Given the description of an element on the screen output the (x, y) to click on. 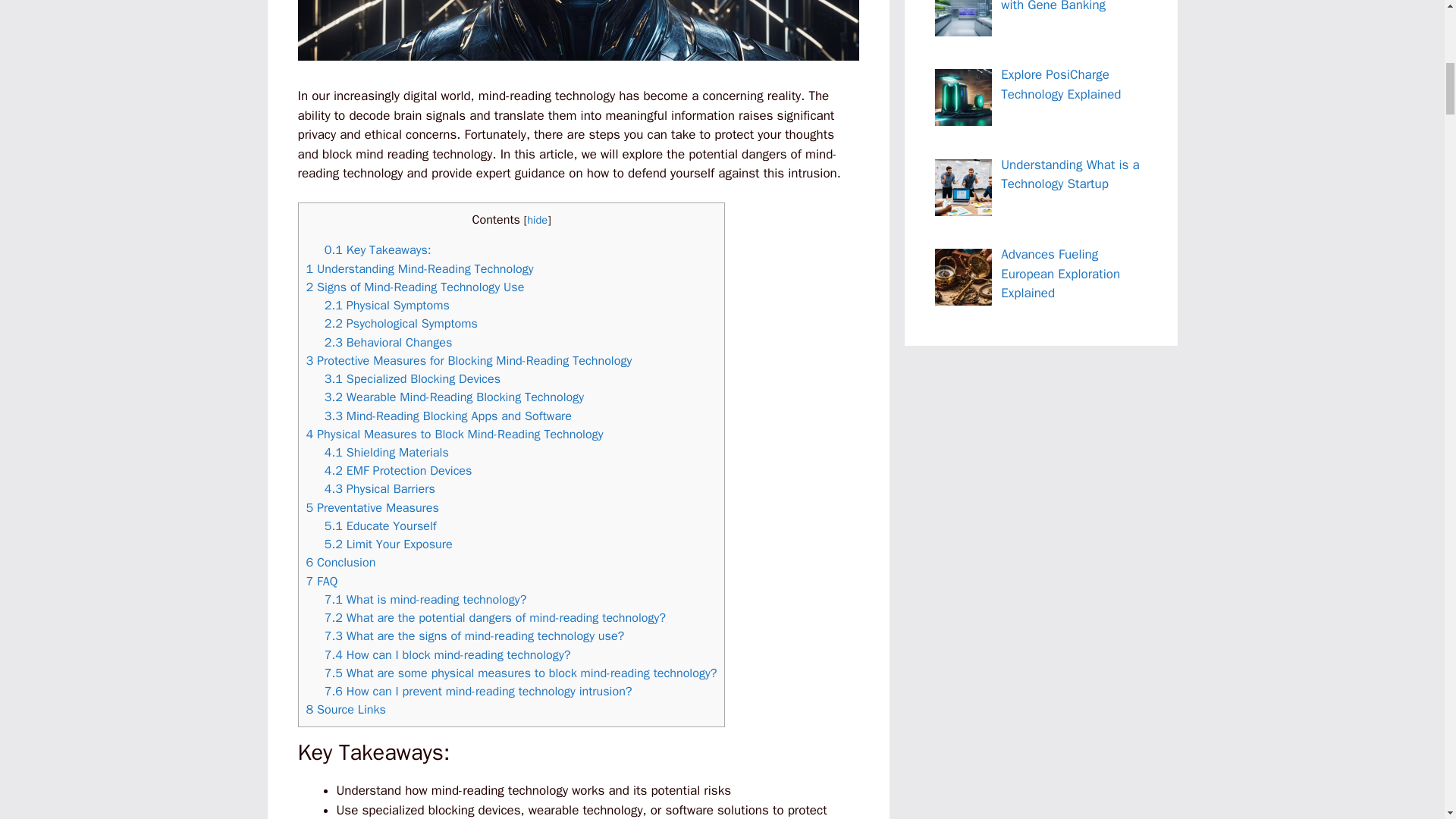
2 Signs of Mind-Reading Technology Use (414, 286)
6 Conclusion (340, 562)
4.2 EMF Protection Devices (397, 470)
7 FAQ (321, 580)
2.2 Psychological Symptoms (400, 323)
2.1 Physical Symptoms (386, 304)
2.3 Behavioral Changes (388, 342)
1 Understanding Mind-Reading Technology (419, 268)
4 Physical Measures to Block Mind-Reading Technology (454, 433)
3.1 Specialized Blocking Devices (412, 378)
